Given the description of an element on the screen output the (x, y) to click on. 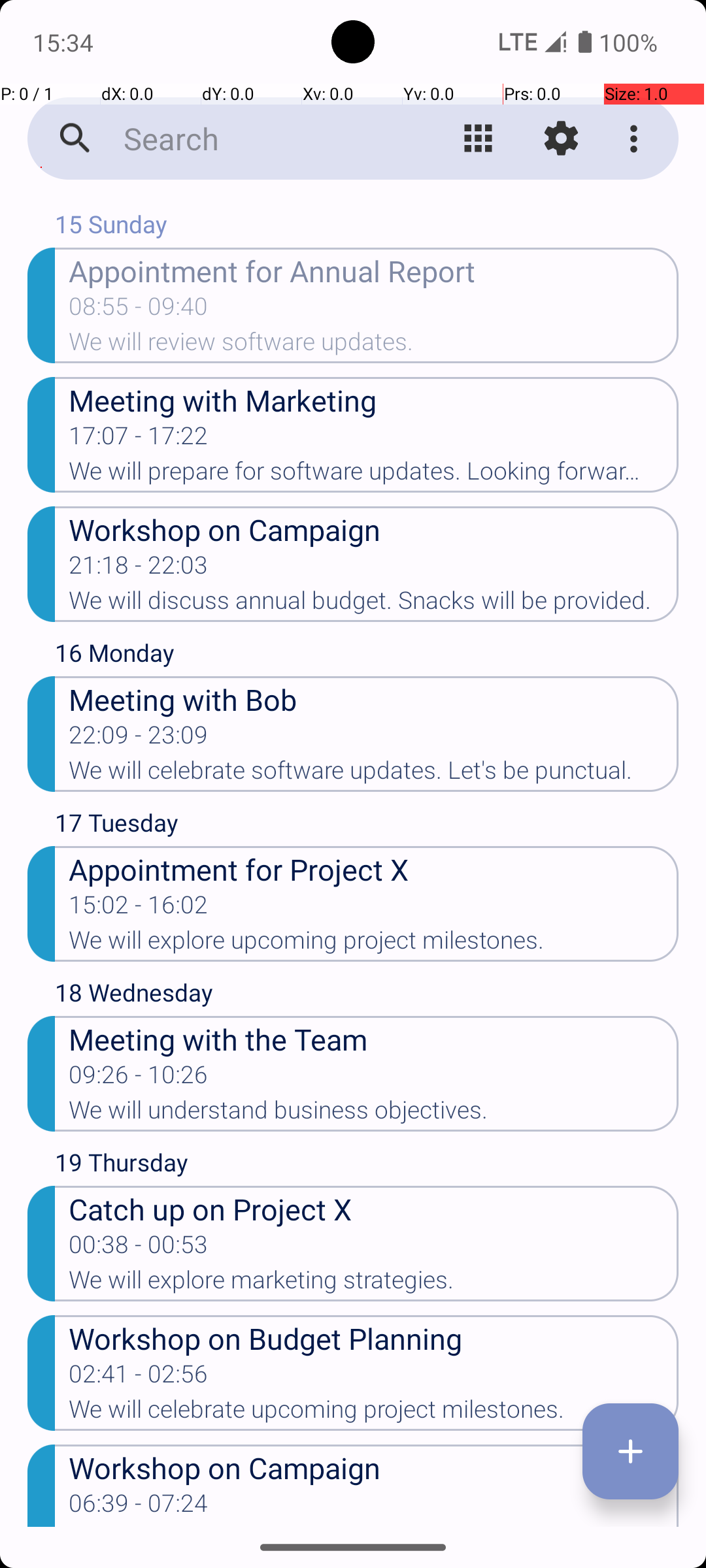
08:55 - 09:40 Element type: android.widget.TextView (137, 309)
We will review software updates. Element type: android.widget.TextView (373, 345)
17:07 - 17:22 Element type: android.widget.TextView (137, 439)
We will prepare for software updates. Looking forward to productive discussions. Element type: android.widget.TextView (373, 474)
21:18 - 22:03 Element type: android.widget.TextView (137, 568)
We will discuss annual budget. Snacks will be provided. Element type: android.widget.TextView (373, 603)
22:09 - 23:09 Element type: android.widget.TextView (137, 738)
We will celebrate software updates. Let's be punctual. Element type: android.widget.TextView (373, 773)
15:02 - 16:02 Element type: android.widget.TextView (137, 908)
We will explore upcoming project milestones. Element type: android.widget.TextView (373, 943)
09:26 - 10:26 Element type: android.widget.TextView (137, 1078)
We will understand business objectives. Element type: android.widget.TextView (373, 1113)
00:38 - 00:53 Element type: android.widget.TextView (137, 1248)
We will explore marketing strategies. Element type: android.widget.TextView (373, 1283)
02:41 - 02:56 Element type: android.widget.TextView (137, 1377)
We will celebrate upcoming project milestones. Element type: android.widget.TextView (373, 1412)
06:39 - 07:24 Element type: android.widget.TextView (137, 1506)
We will discuss business objectives. Element type: android.widget.TextView (373, 1525)
